Given the description of an element on the screen output the (x, y) to click on. 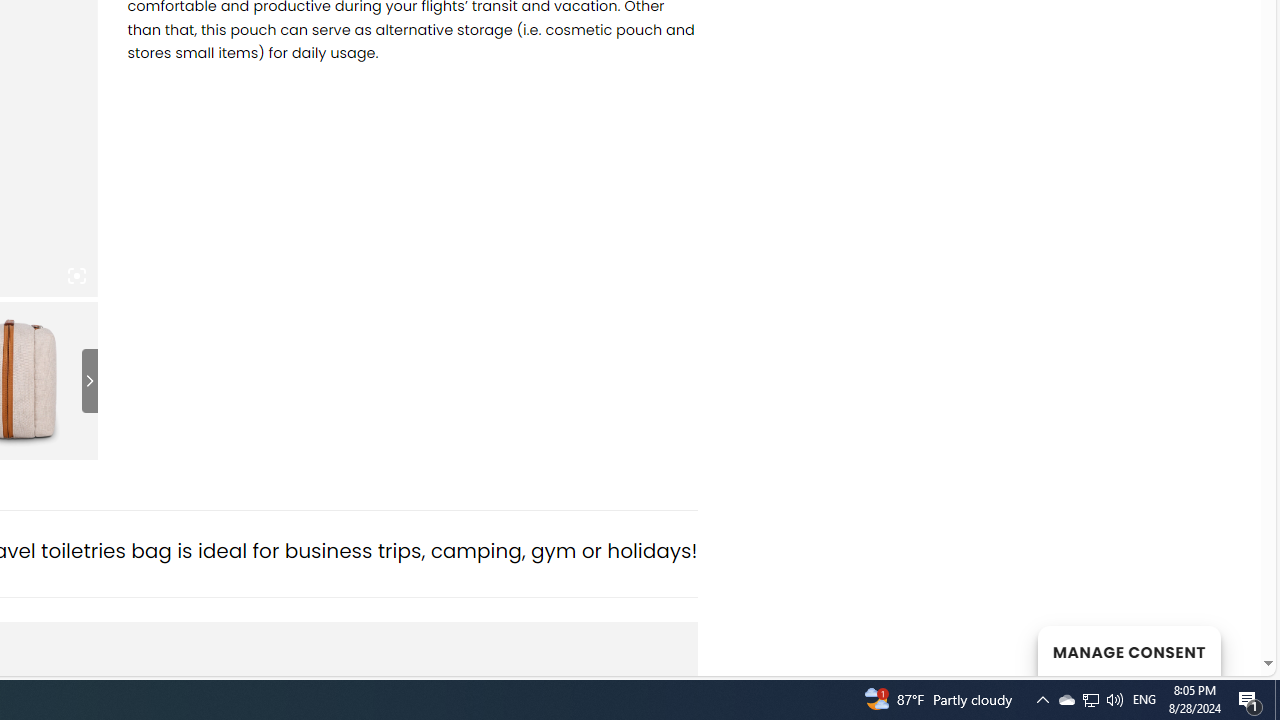
Class: iconic-woothumbs-fullscreen (75, 276)
MANAGE CONSENT (1128, 650)
